Given the description of an element on the screen output the (x, y) to click on. 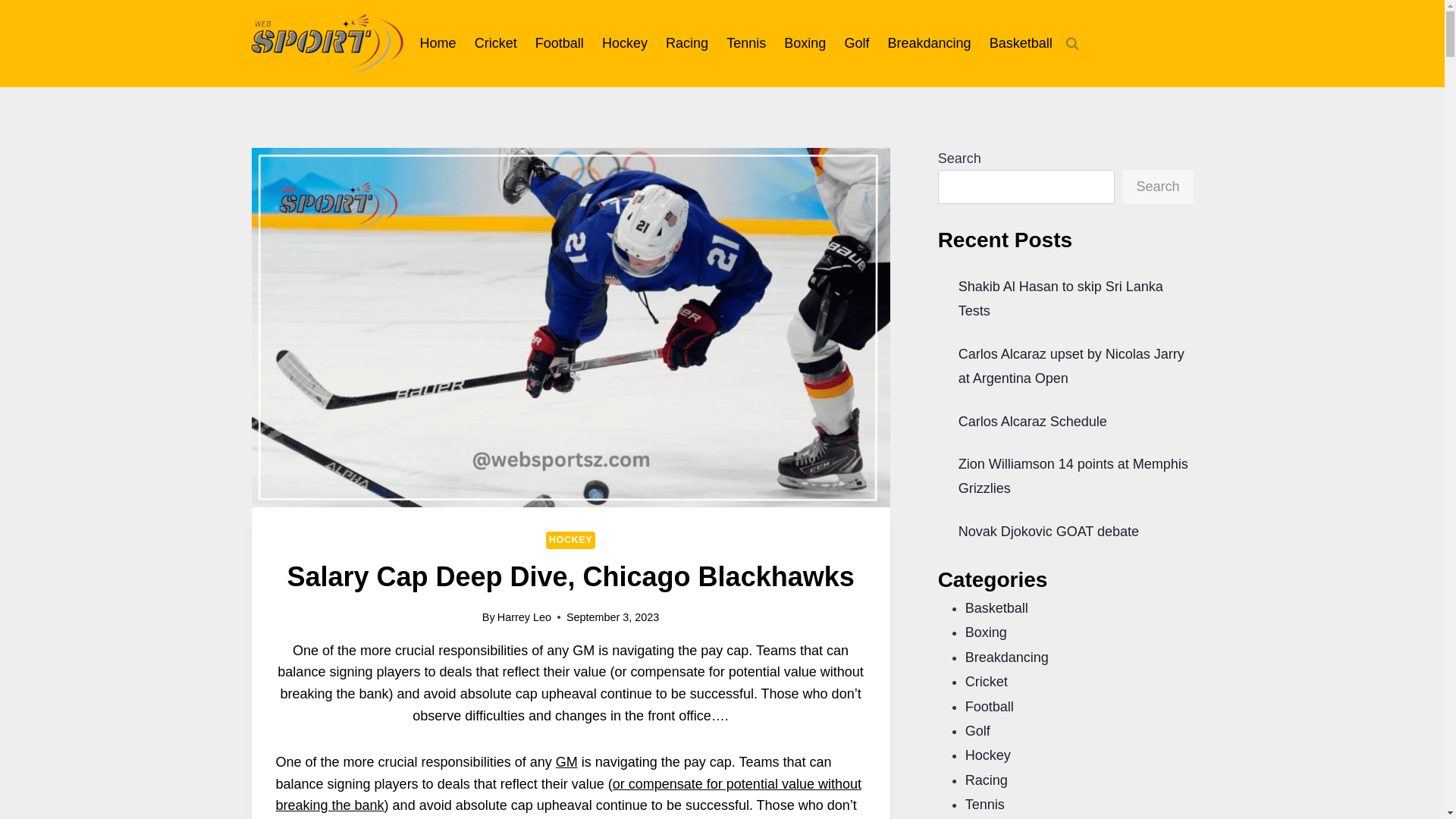
Harrey Leo (524, 616)
GM (567, 761)
Basketball (1020, 43)
Golf (855, 43)
Racing (686, 43)
Breakdancing (928, 43)
Home (437, 43)
Football (558, 43)
Cricket (495, 43)
Boxing (804, 43)
